Given the description of an element on the screen output the (x, y) to click on. 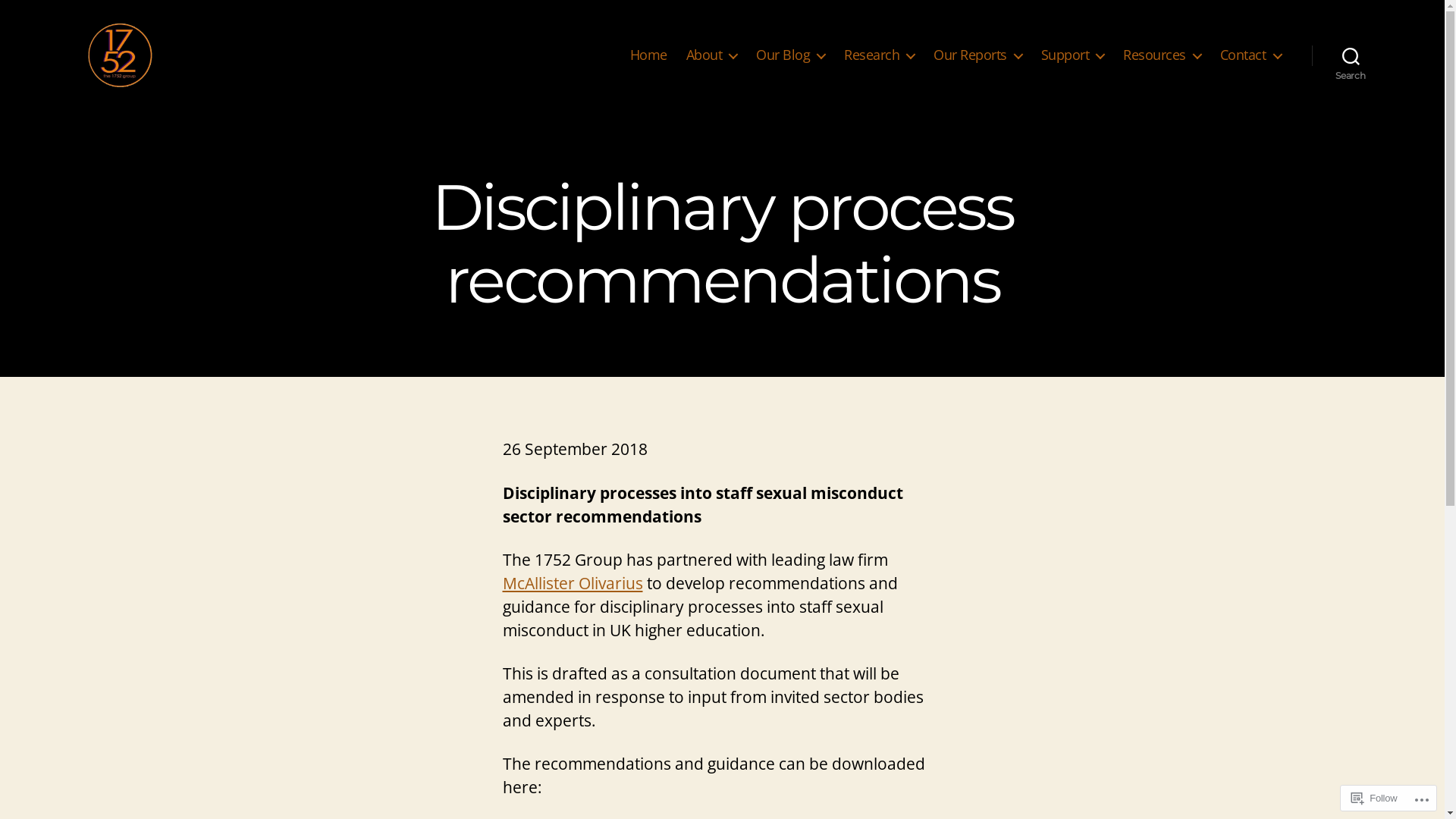
Follow Element type: text (1373, 797)
Home Element type: text (648, 55)
Search Element type: text (1350, 55)
Our Blog Element type: text (790, 55)
Research Element type: text (879, 55)
McAllister Olivarius Element type: text (572, 582)
Our Reports Element type: text (977, 55)
Support Element type: text (1072, 55)
Contact Element type: text (1250, 55)
About Element type: text (711, 55)
Resources Element type: text (1162, 55)
